Given the description of an element on the screen output the (x, y) to click on. 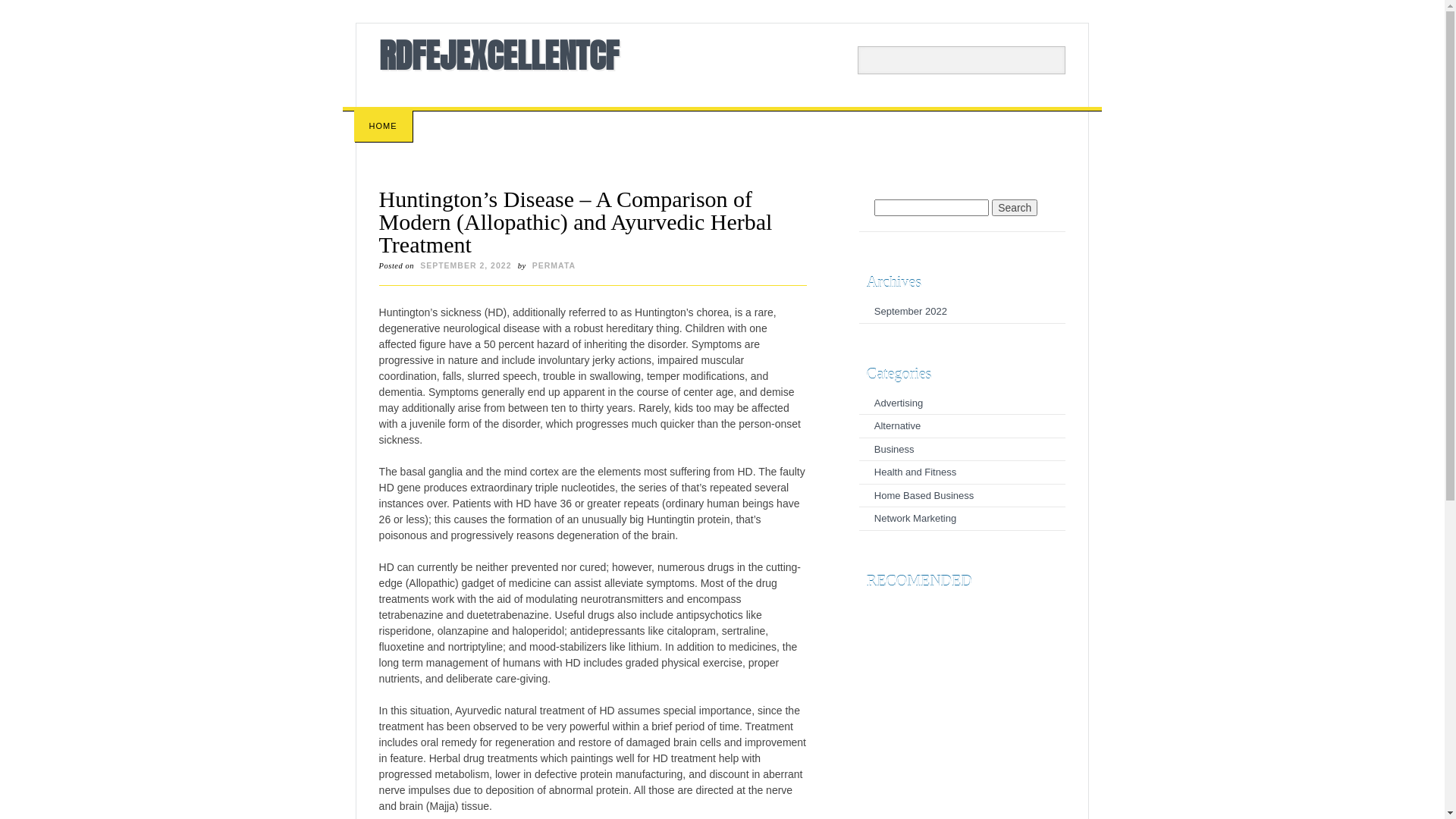
Skip to content Element type: text (377, 114)
September 2022 Element type: text (910, 310)
Search Element type: text (22, 8)
Alternative Element type: text (897, 425)
Home Based Business Element type: text (924, 495)
RDFEJEXCELLENTCF Element type: text (498, 55)
SEPTEMBER 2, 2022 Element type: text (465, 264)
Network Marketing Element type: text (915, 518)
Search Element type: text (1014, 207)
HOME Element type: text (383, 125)
PERMATA Element type: text (553, 264)
Health and Fitness Element type: text (915, 471)
Advertising Element type: text (898, 402)
Business Element type: text (894, 449)
